Given the description of an element on the screen output the (x, y) to click on. 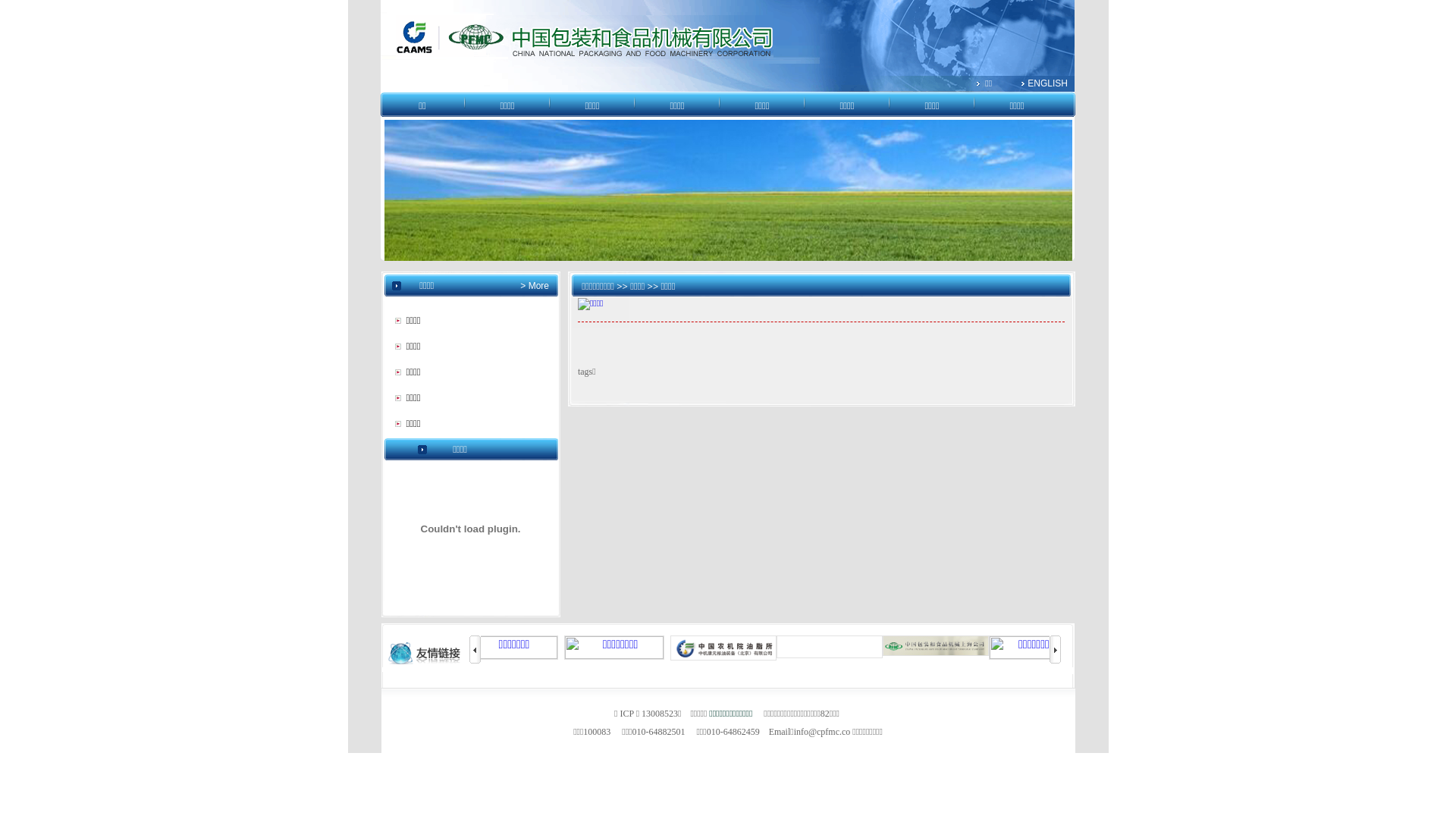
 More Element type: text (537, 285)
ENGLISH Element type: text (1047, 83)
